Given the description of an element on the screen output the (x, y) to click on. 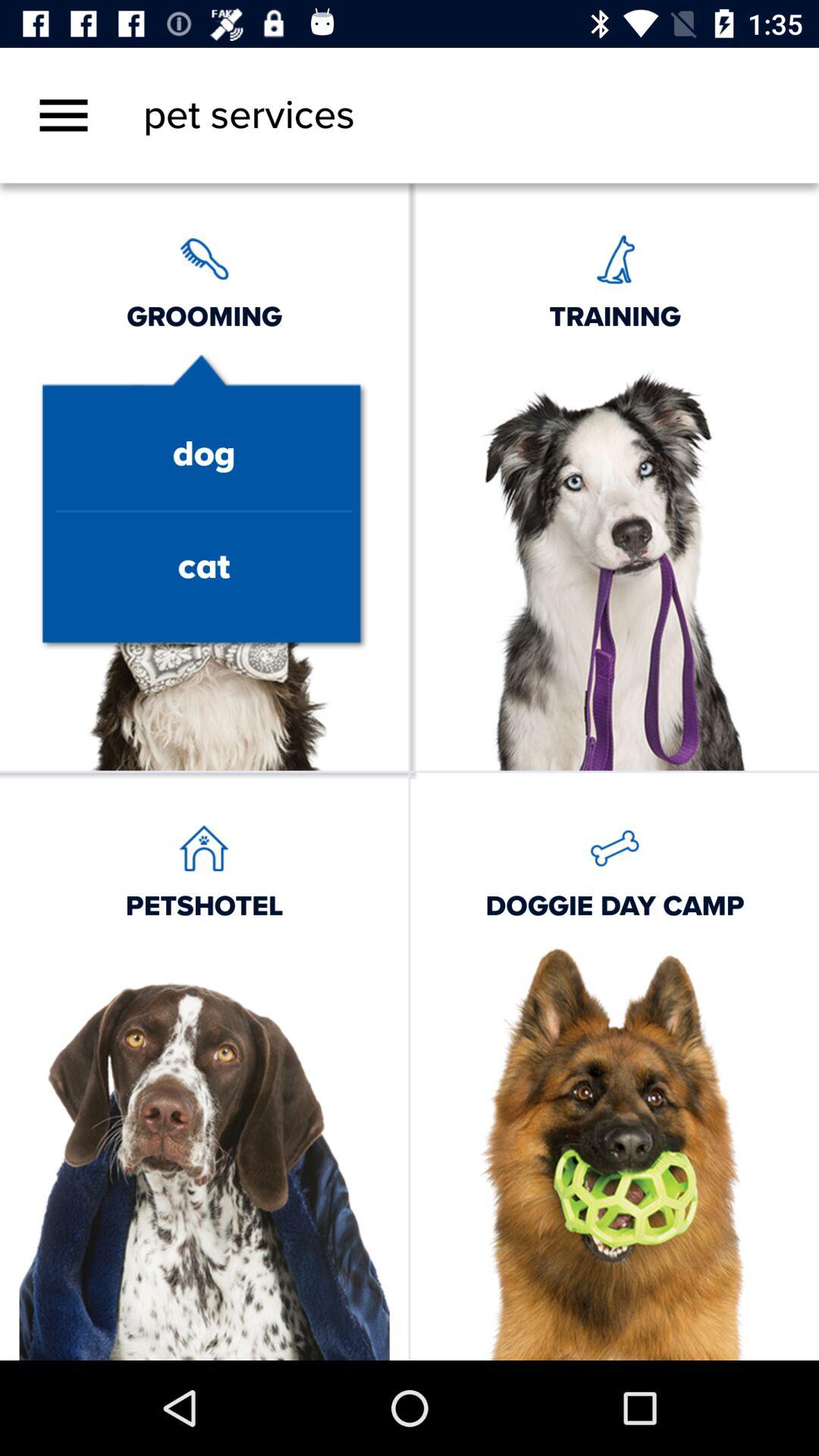
flip until cat icon (203, 567)
